Given the description of an element on the screen output the (x, y) to click on. 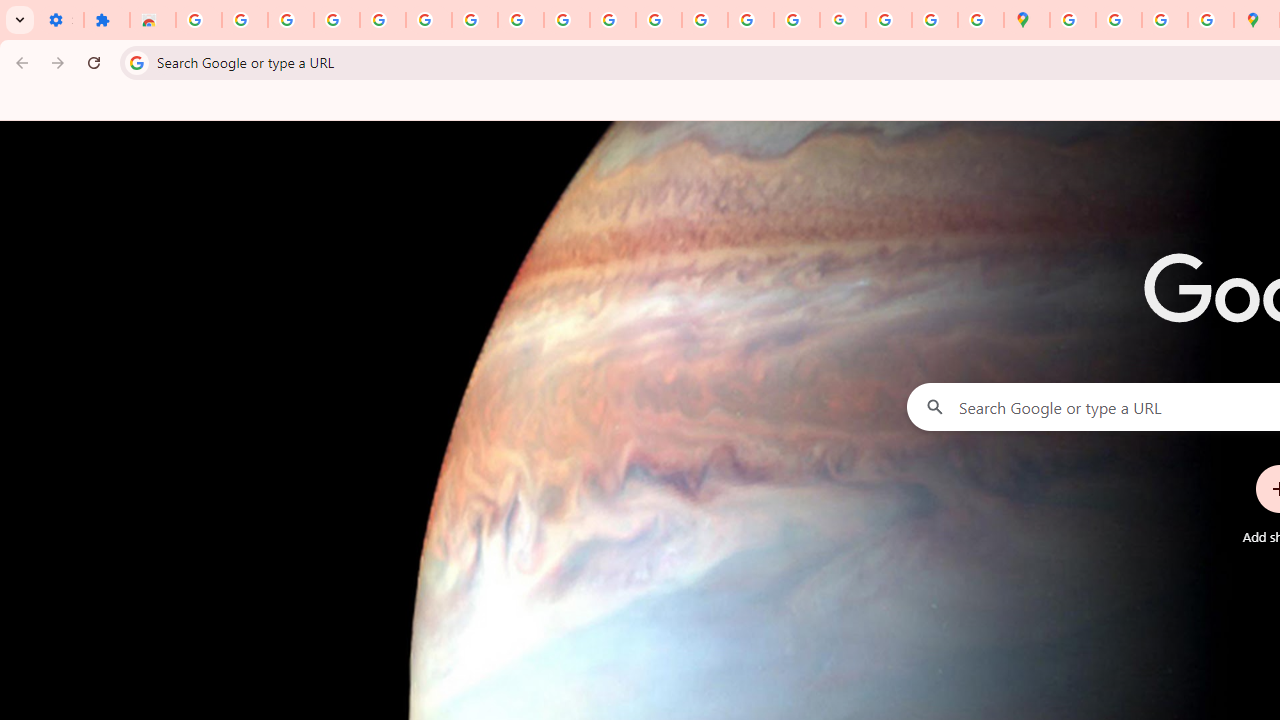
YouTube (567, 20)
Reviews: Helix Fruit Jump Arcade Game (153, 20)
Extensions (107, 20)
Safety in Our Products - Google Safety Center (1210, 20)
Settings - On startup (60, 20)
